Given the description of an element on the screen output the (x, y) to click on. 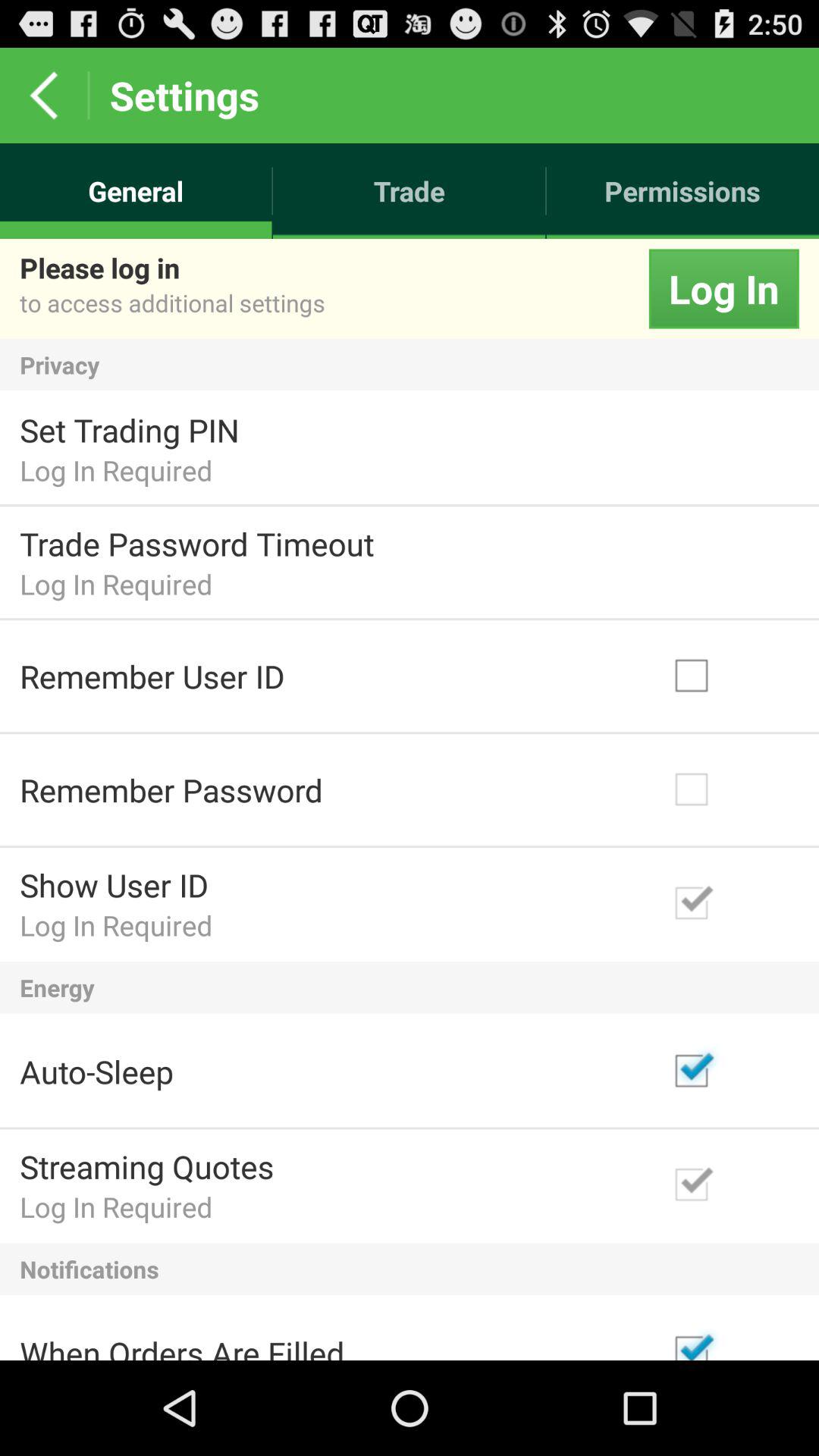
turn on the remember password item (171, 789)
